Given the description of an element on the screen output the (x, y) to click on. 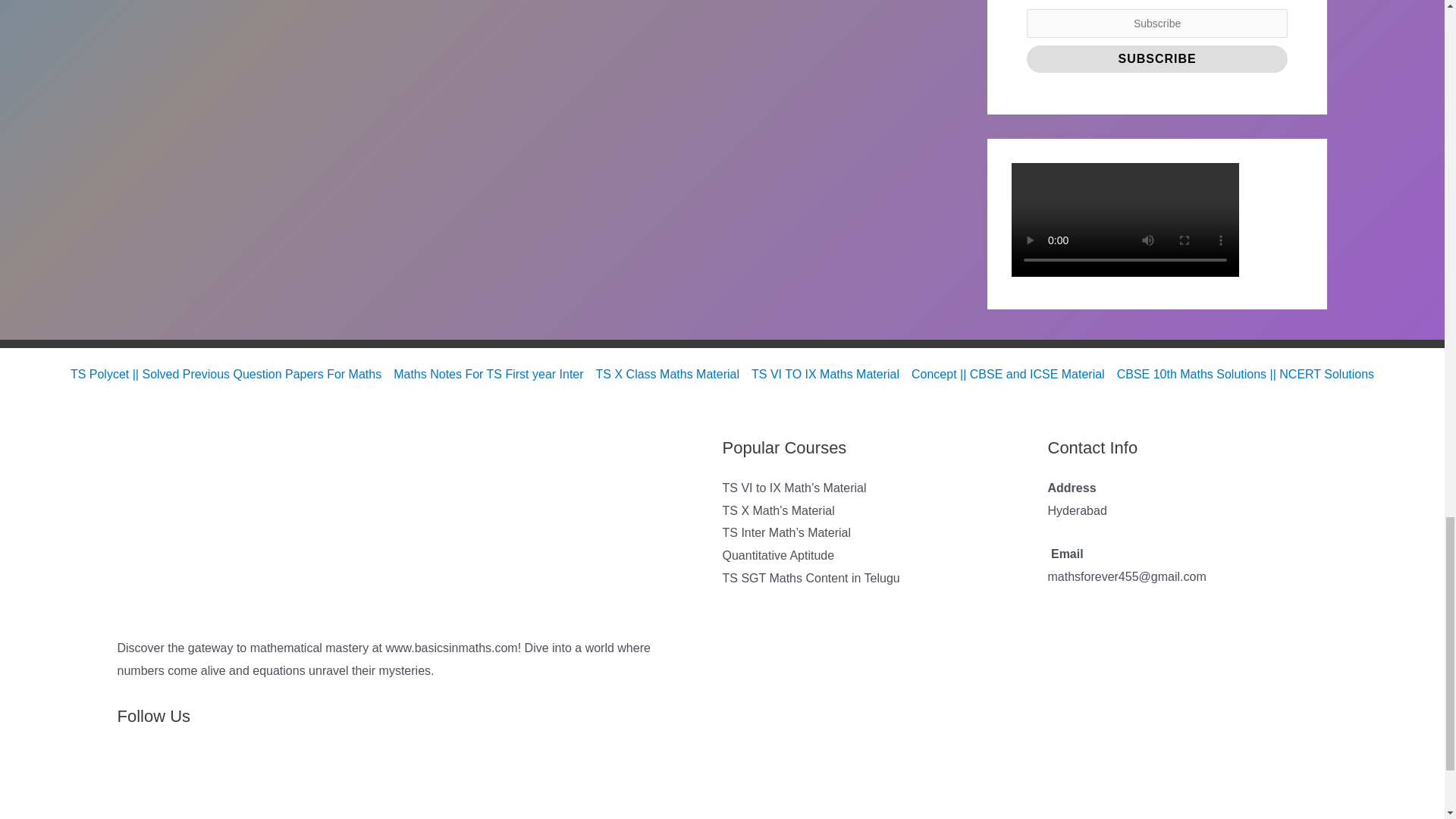
Follow by Email (169, 779)
RSS (134, 779)
Subscribe (1157, 58)
Facebook (202, 779)
